Given the description of an element on the screen output the (x, y) to click on. 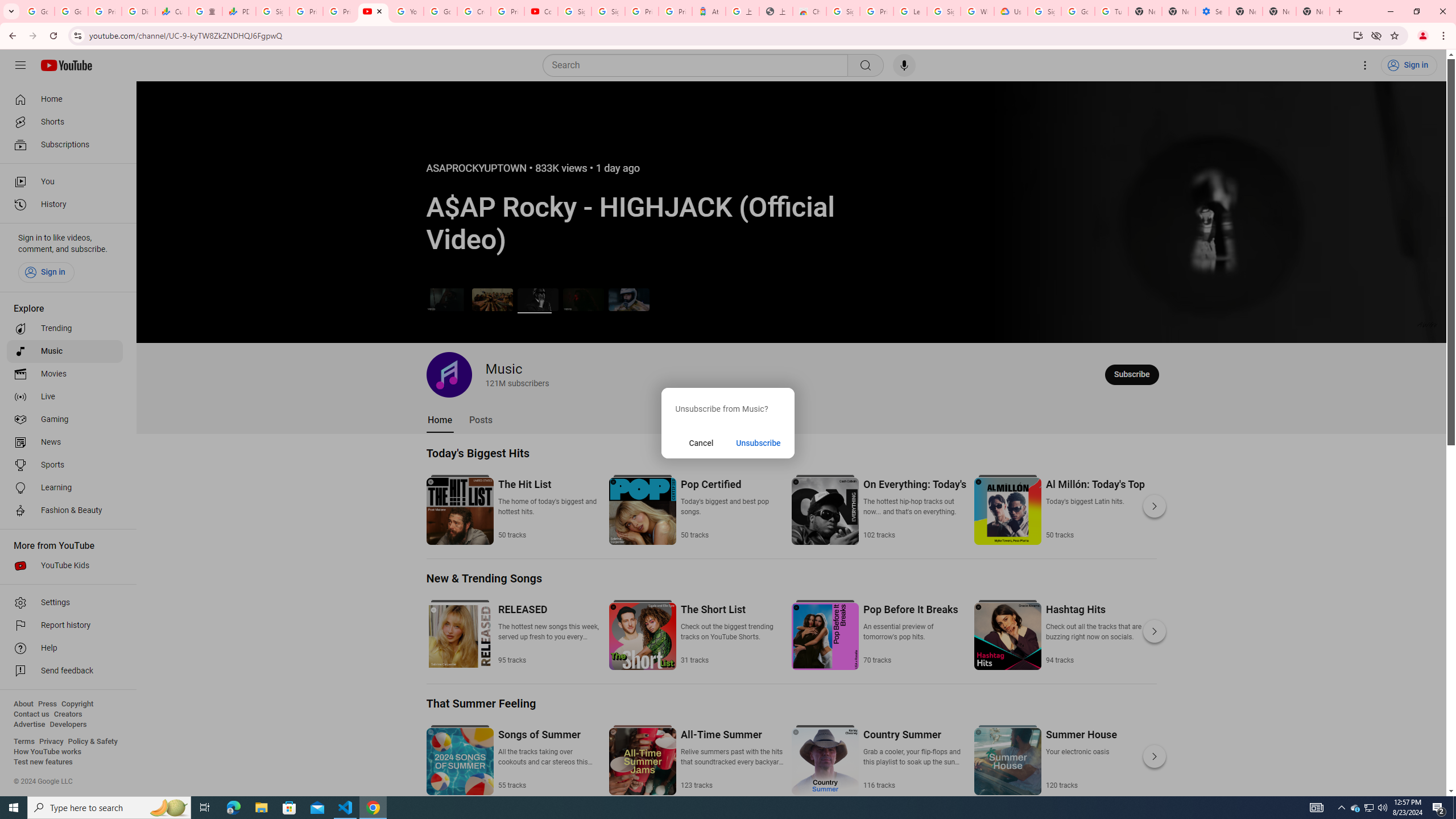
YouTube Kids (64, 565)
News (64, 441)
Cancel (700, 442)
Google Account Help (441, 11)
Music 121 million subscribers (487, 374)
Today's Biggest Hits (477, 453)
Unsubscribe (758, 442)
